Given the description of an element on the screen output the (x, y) to click on. 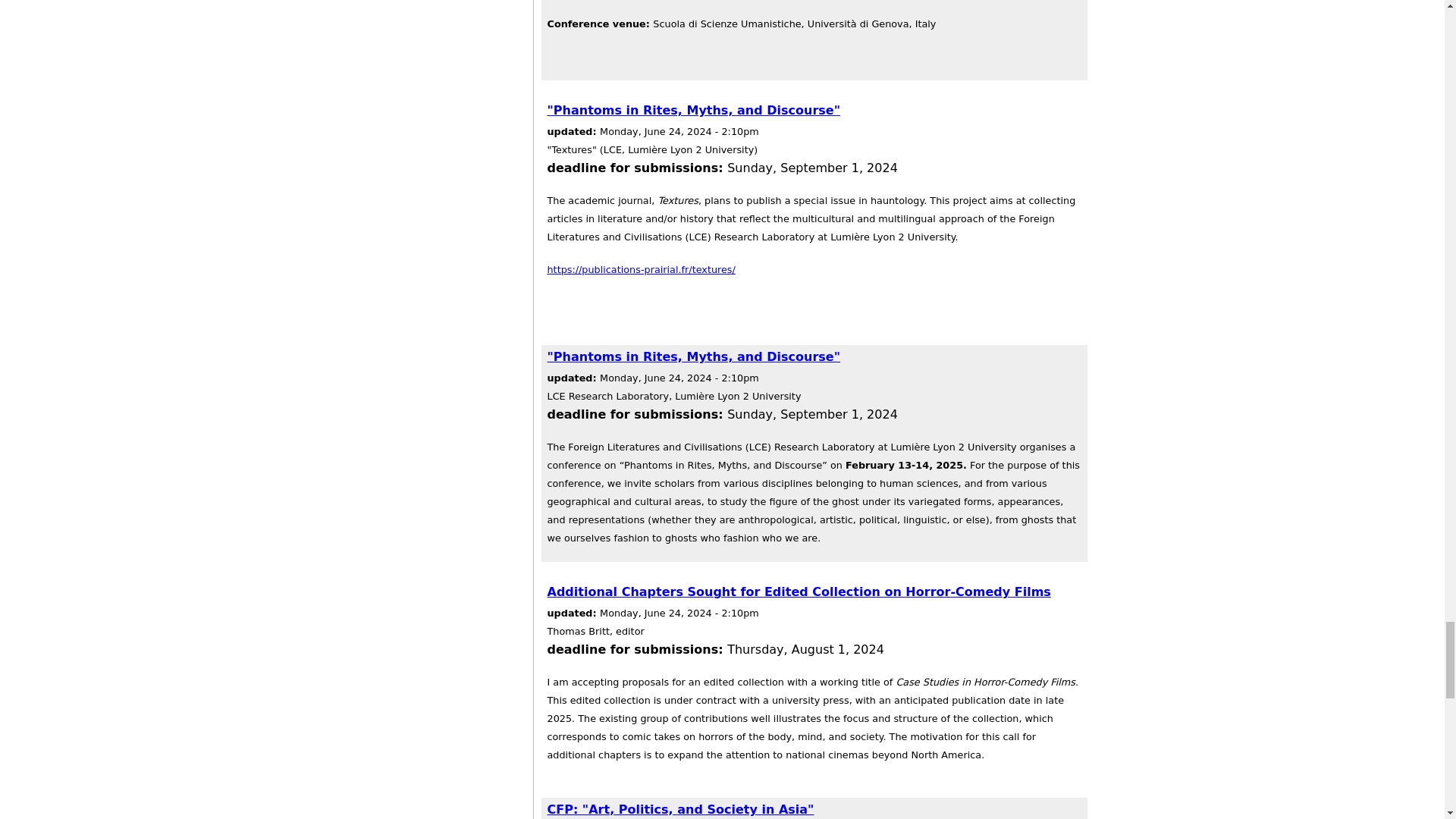
"Phantoms in Rites, Myths, and Discourse" (694, 110)
"Phantoms in Rites, Myths, and Discourse" (694, 356)
CFP: "Art, Politics, and Society in Asia" (680, 809)
